Given the description of an element on the screen output the (x, y) to click on. 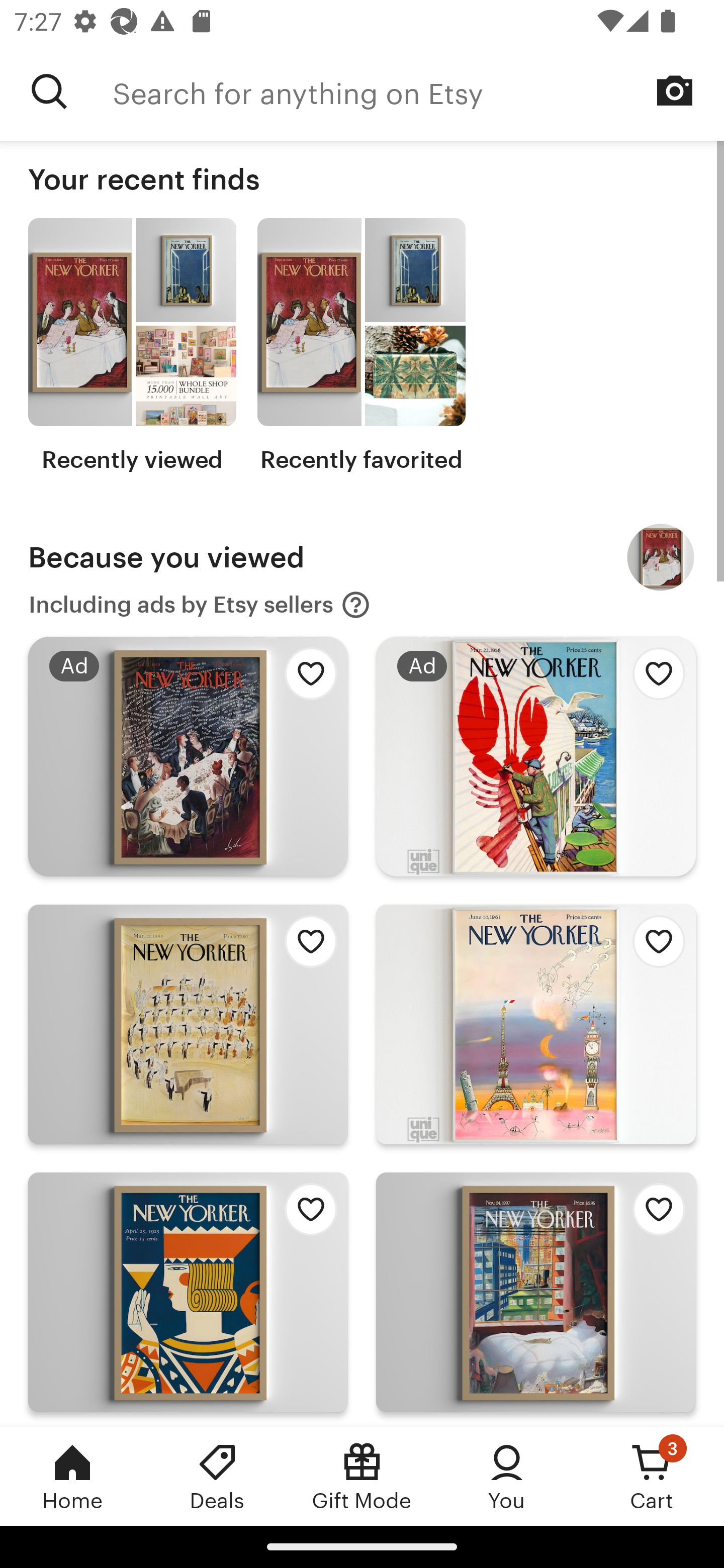
Search for anything on Etsy (49, 91)
Search by image (674, 90)
Search for anything on Etsy (418, 91)
Recently viewed (132, 345)
Recently favorited (361, 345)
Including ads by Etsy sellers (199, 604)
Deals (216, 1475)
Gift Mode (361, 1475)
You (506, 1475)
Cart, 3 new notifications Cart (651, 1475)
